Given the description of an element on the screen output the (x, y) to click on. 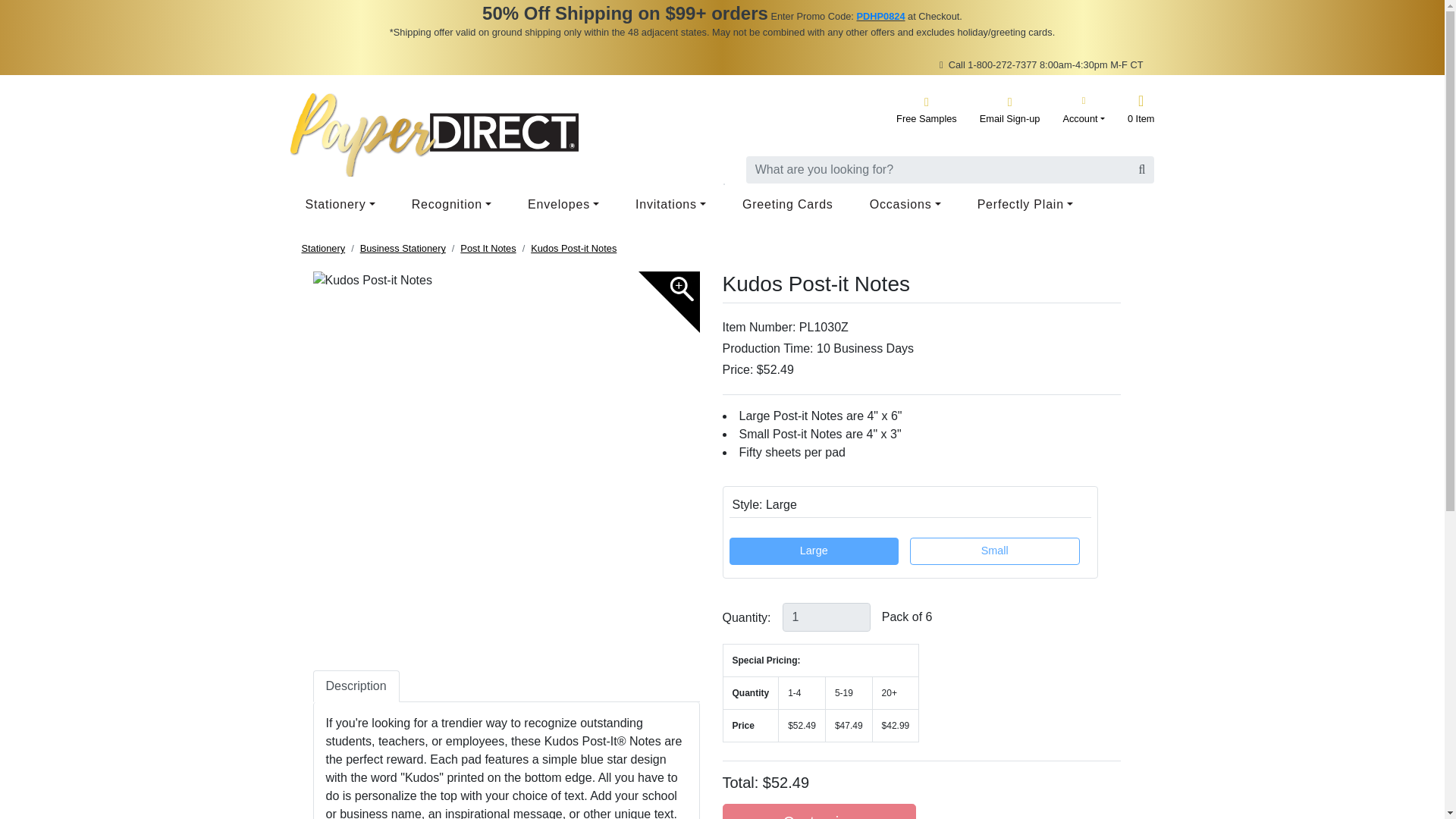
Stationery (342, 204)
PDHP0824 (880, 16)
Account (1083, 109)
Kudos Post-it Notes (505, 280)
1 (826, 616)
